Given the description of an element on the screen output the (x, y) to click on. 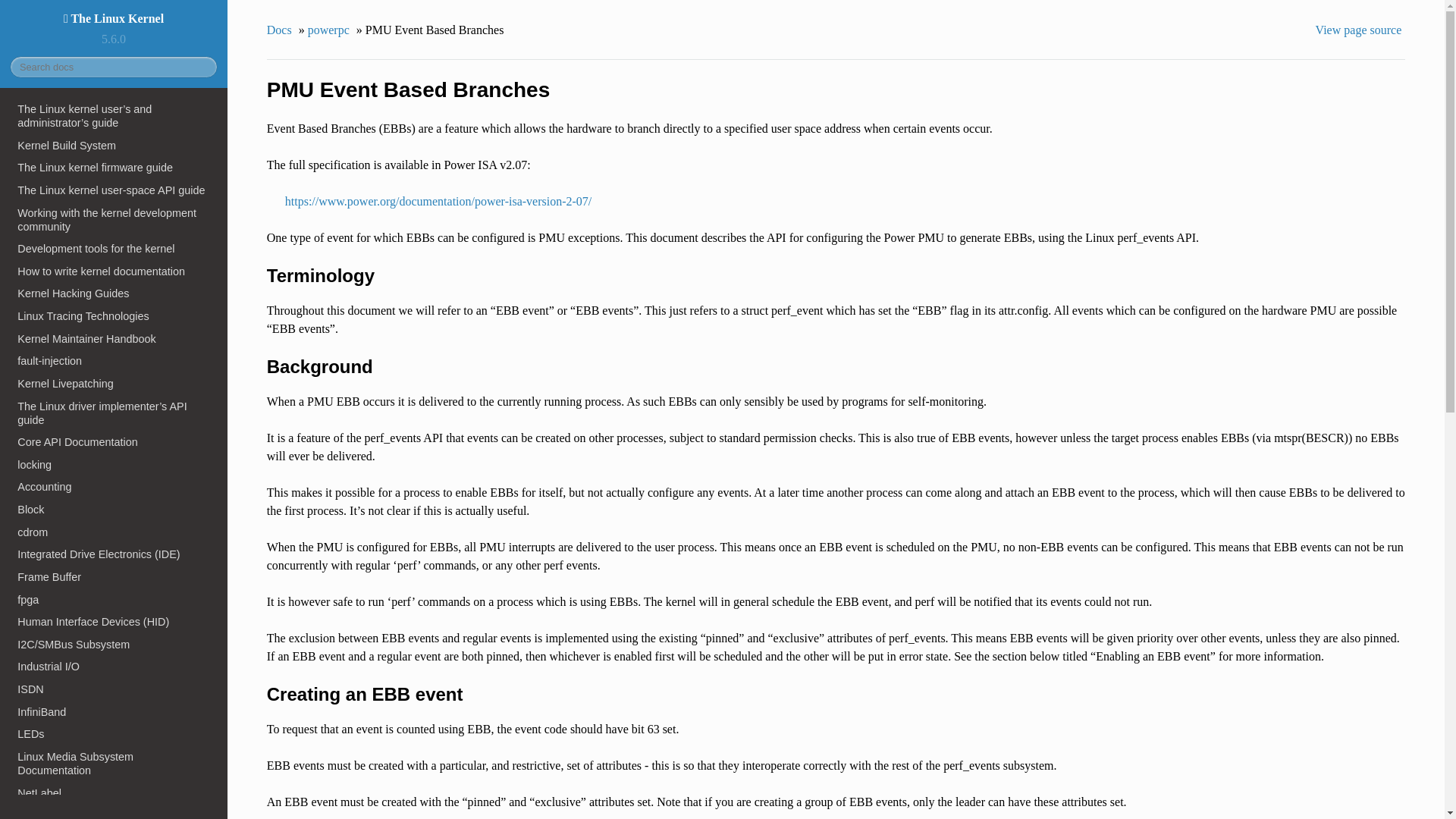
cdrom (113, 531)
Kernel Hacking Guides (113, 293)
NetLabel (113, 793)
The Linux kernel firmware guide (113, 167)
Kernel Livepatching (113, 383)
locking (113, 464)
Kernel Maintainer Handbook (113, 338)
Kernel Build System (113, 145)
The Linux kernel user-space API guide (113, 190)
Core API Documentation (113, 441)
fault-injection (113, 360)
Accounting (113, 486)
Block (113, 508)
How to write kernel documentation (113, 271)
The Linux Kernel (113, 18)
